Given the description of an element on the screen output the (x, y) to click on. 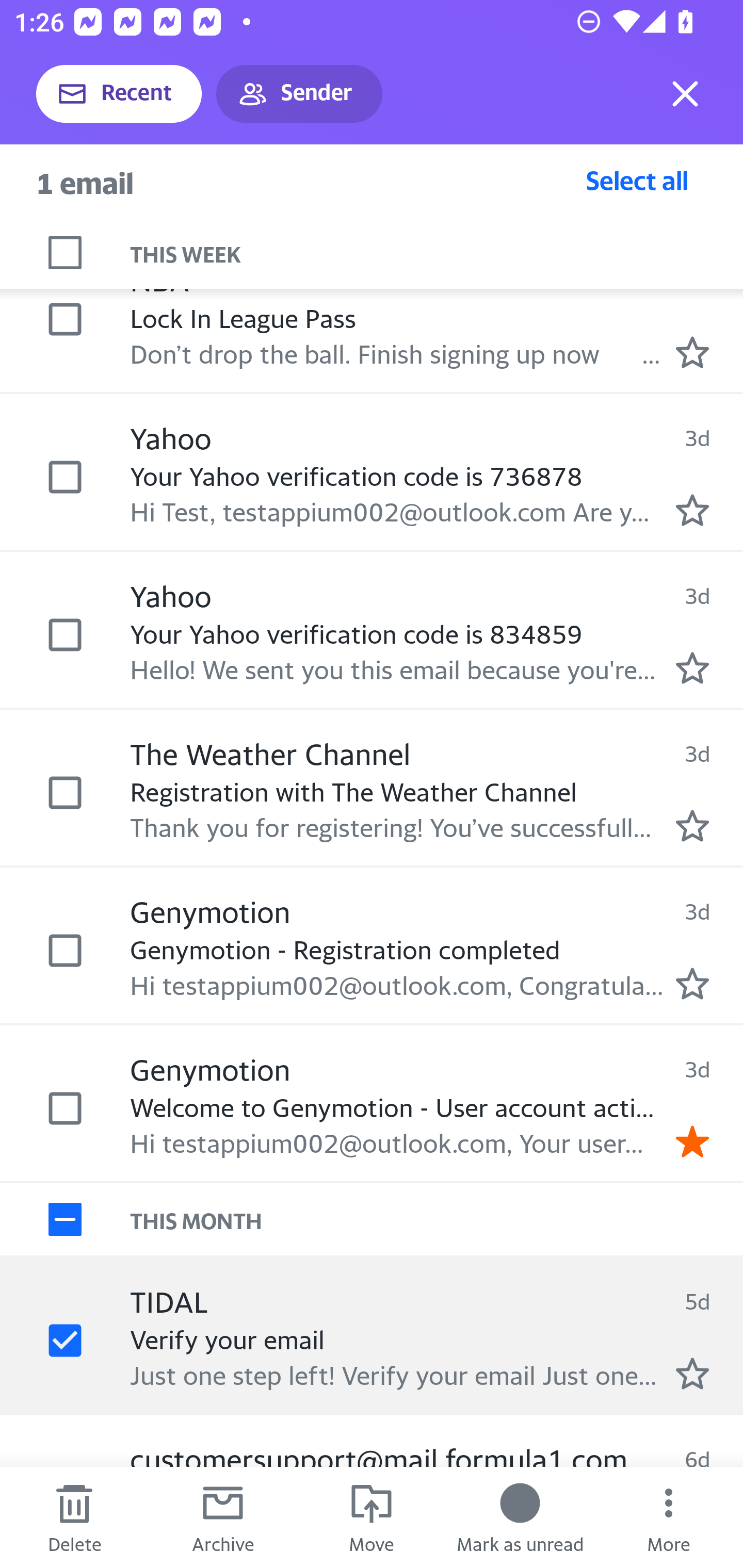
Sender (299, 93)
Exit selection mode (684, 93)
Select all (637, 180)
Mark as starred. (692, 351)
Mark as starred. (692, 510)
Mark as starred. (692, 667)
Mark as starred. (692, 825)
Mark as starred. (692, 983)
Remove star. (692, 1140)
THIS MONTH (436, 1218)
Mark as starred. (692, 1373)
Delete (74, 1517)
Archive (222, 1517)
Move (371, 1517)
Mark as unread (519, 1517)
More (668, 1517)
